Given the description of an element on the screen output the (x, y) to click on. 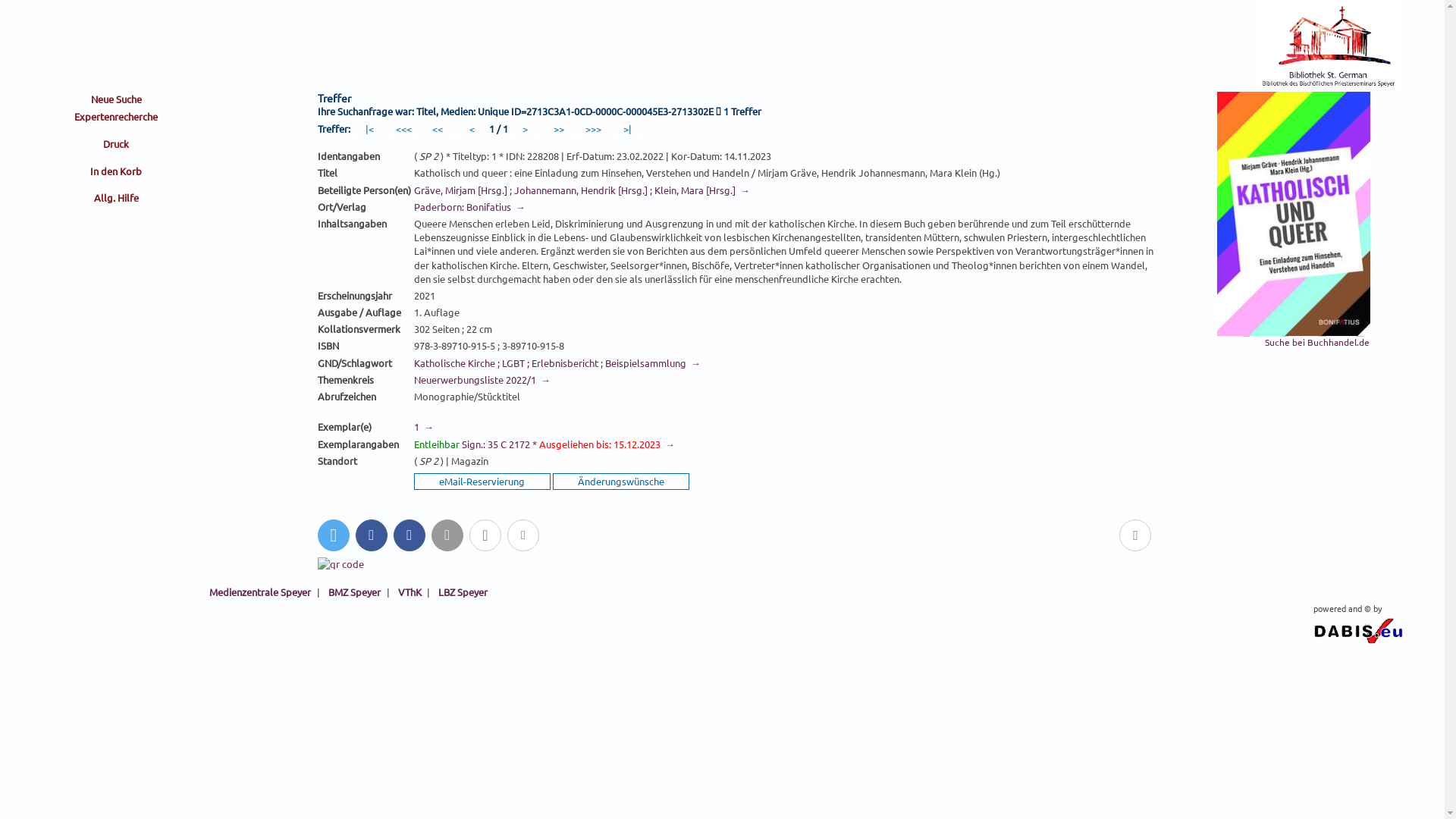
eMail-Reservierung Element type: text (482, 481)
*** Element type: hover (412, 346)
Expertenrecherche mit der vollen Booleschen Algebra Element type: hover (115, 116)
SP 2 Element type: text (428, 155)
Medienzentrale Speyer Element type: text (259, 591)
>>> Element type: text (593, 129)
*** Element type: hover (412, 362)
like Element type: text (409, 535)
*** Element type: hover (412, 481)
*** Element type: hover (412, 328)
*** Element type: hover (412, 250)
Druck Element type: text (115, 143)
Neue Suche Element type: text (115, 99)
*** Element type: hover (412, 443)
In den Korb Element type: text (115, 170)
*** Element type: hover (412, 295)
*** Element type: hover (412, 396)
*** Element type: hover (412, 379)
LBZ Speyer Element type: text (462, 591)
Suche bei Buchhandel.de Element type: text (1316, 341)
Allgemeine Hilfe zur Nutzung des BIS-C 2000 Web-OPAC Element type: hover (115, 198)
*** Element type: hover (412, 173)
Bibliothek St. German - Speyer Element type: hover (1328, 84)
>| Element type: text (627, 129)
tweet Element type: text (333, 535)
< Element type: text (471, 129)
Allg. Hilfe Element type: text (115, 198)
mail Element type: text (447, 535)
Info Element type: text (485, 535)
teilen Element type: text (371, 535)
05 Treffer vor Element type: hover (559, 129)
Druckansicht anzeigen Element type: hover (115, 143)
SP 2 Element type: text (428, 460)
drucken Element type: text (1135, 535)
*** Element type: hover (412, 460)
*** Element type: hover (412, 206)
BMZ Speyer Element type: text (354, 591)
Bibliothek St. German - Speyer Element type: hover (1328, 44)
25 Treffer vor Element type: hover (593, 129)
*** Element type: hover (412, 419)
>> Element type: text (559, 129)
Zum ersten Treffer Element type: hover (369, 129)
*** Element type: hover (412, 311)
> Element type: text (524, 129)
*** Element type: hover (412, 155)
Vormerkung mittels eMail an die Bibliothek senden Element type: hover (482, 481)
Expertenrecherche Element type: text (115, 116)
*** Element type: hover (412, 189)
<<< Element type: text (403, 129)
VThK Element type: text (409, 591)
Zum letzten Treffer Element type: hover (627, 129)
|< Element type: text (369, 129)
01 Treffer vor Element type: hover (524, 129)
mehr Element type: text (523, 535)
<< Element type: text (437, 129)
